Given the description of an element on the screen output the (x, y) to click on. 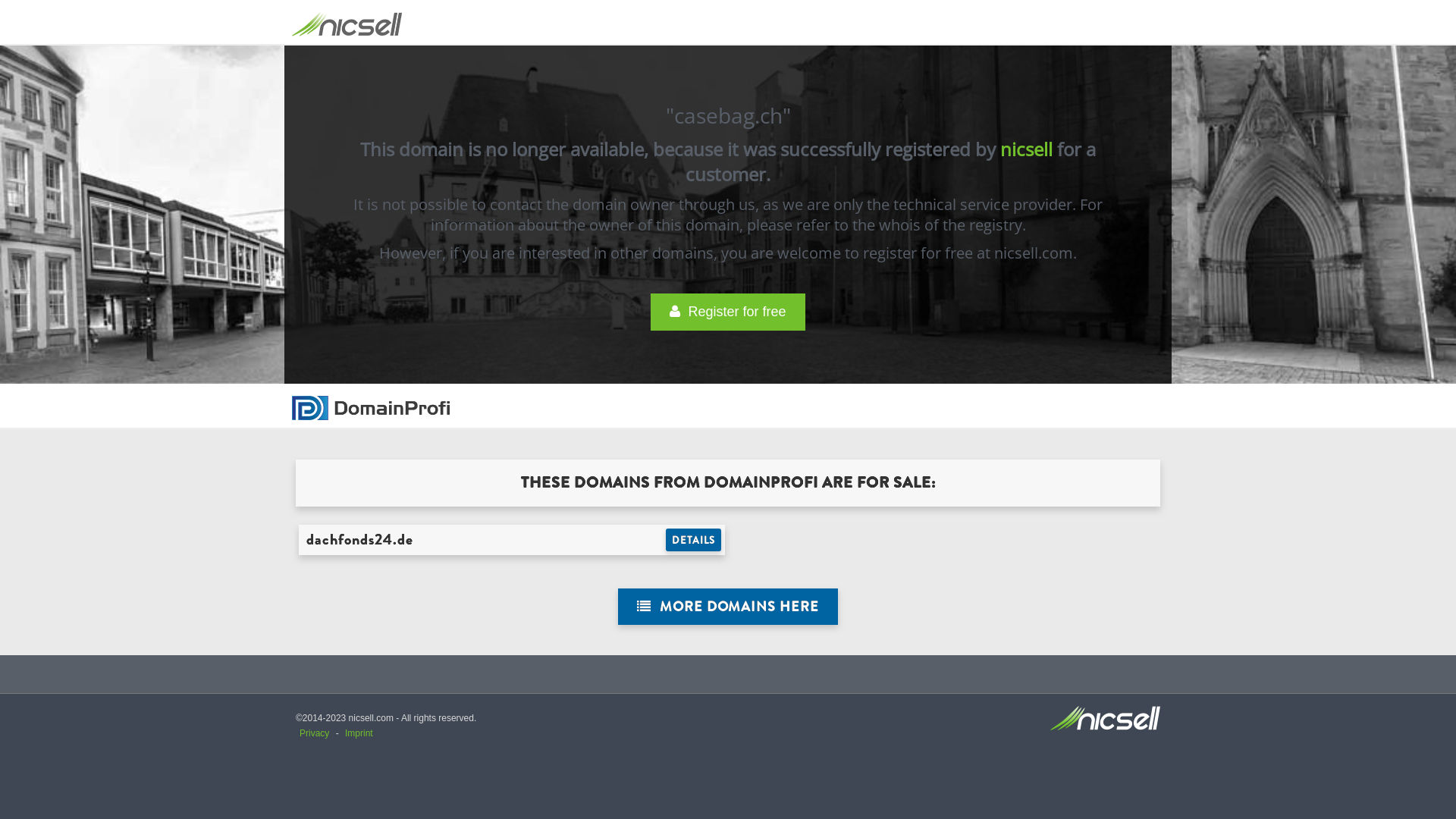
DETAILS Element type: text (693, 539)
  Register for free Element type: text (727, 311)
Imprint Element type: text (359, 733)
nicsell Element type: text (1026, 148)
  MORE DOMAINS HERE Element type: text (727, 606)
Privacy Element type: text (314, 733)
